Given the description of an element on the screen output the (x, y) to click on. 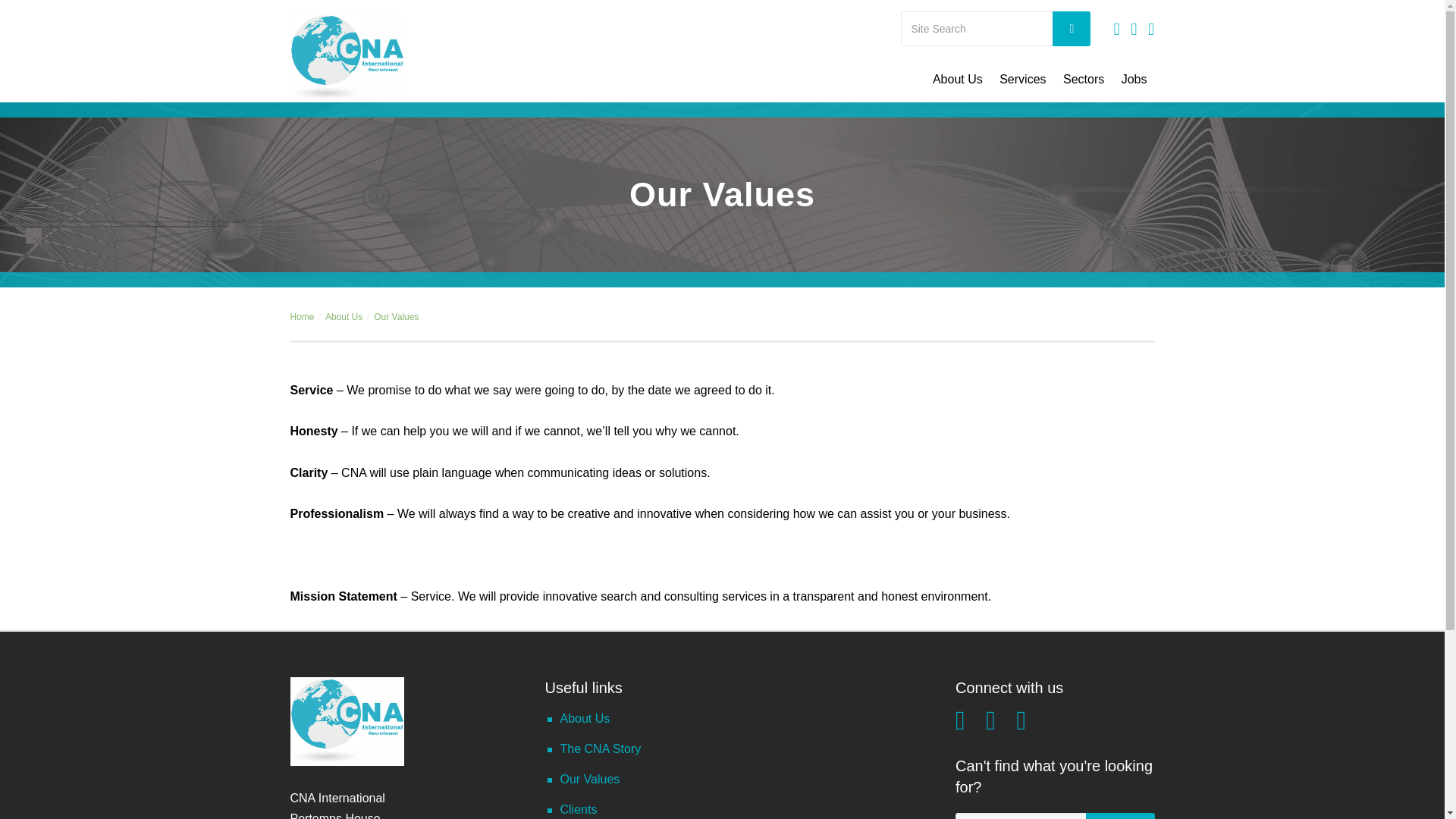
Services (1022, 79)
Jobs (1134, 79)
Sectors (1083, 79)
About Us (958, 79)
